Given the description of an element on the screen output the (x, y) to click on. 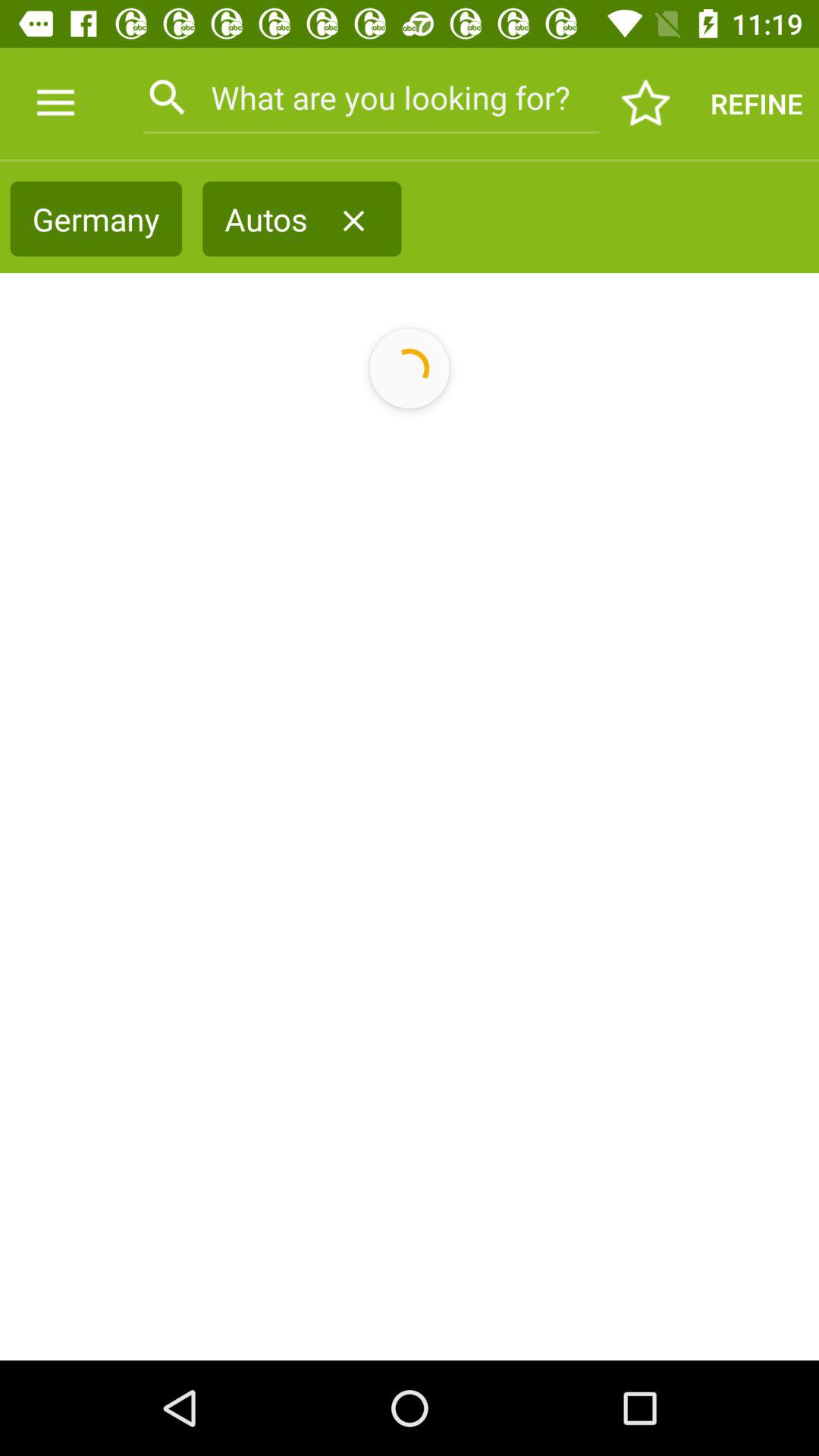
launch what are you item (370, 97)
